Given the description of an element on the screen output the (x, y) to click on. 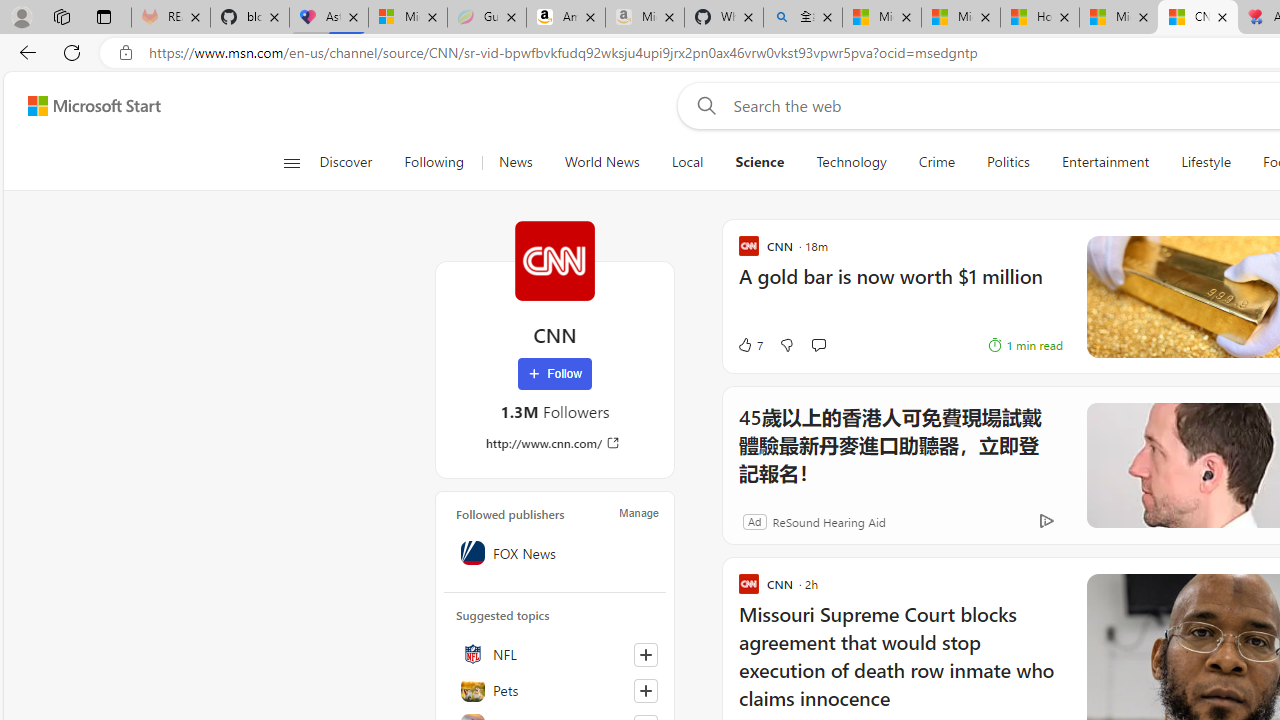
How I Got Rid of Microsoft Edge's Unnecessary Features (1040, 17)
CNN (554, 260)
Class: button-glyph (290, 162)
CNN - MSN (1197, 17)
